Given the description of an element on the screen output the (x, y) to click on. 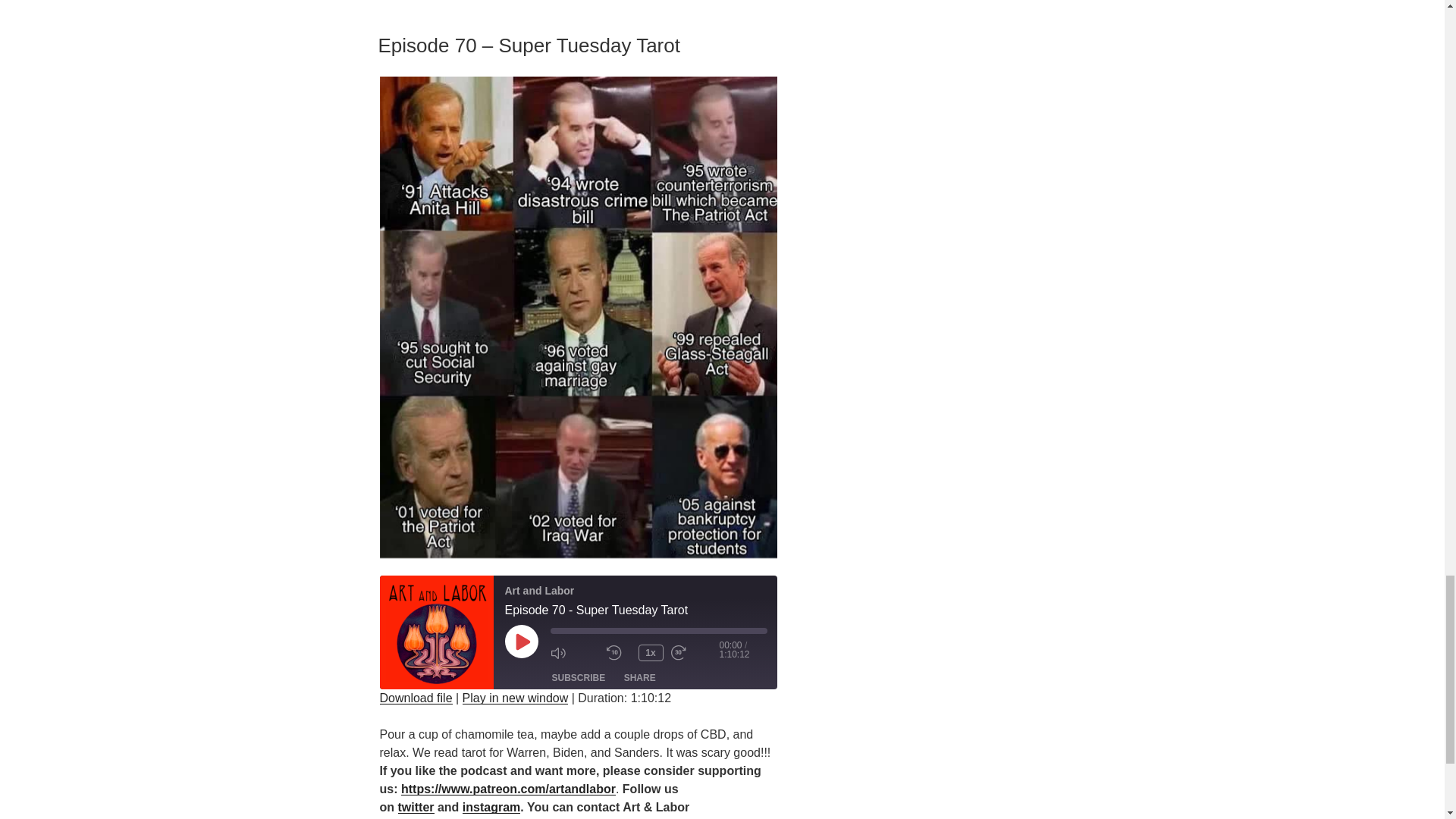
Play Episode (521, 641)
SHARE (639, 678)
Rewind 10 Seconds (618, 652)
SUBSCRIBE (578, 678)
Fast Forward 30 seconds (694, 652)
1x (651, 652)
